Given the description of an element on the screen output the (x, y) to click on. 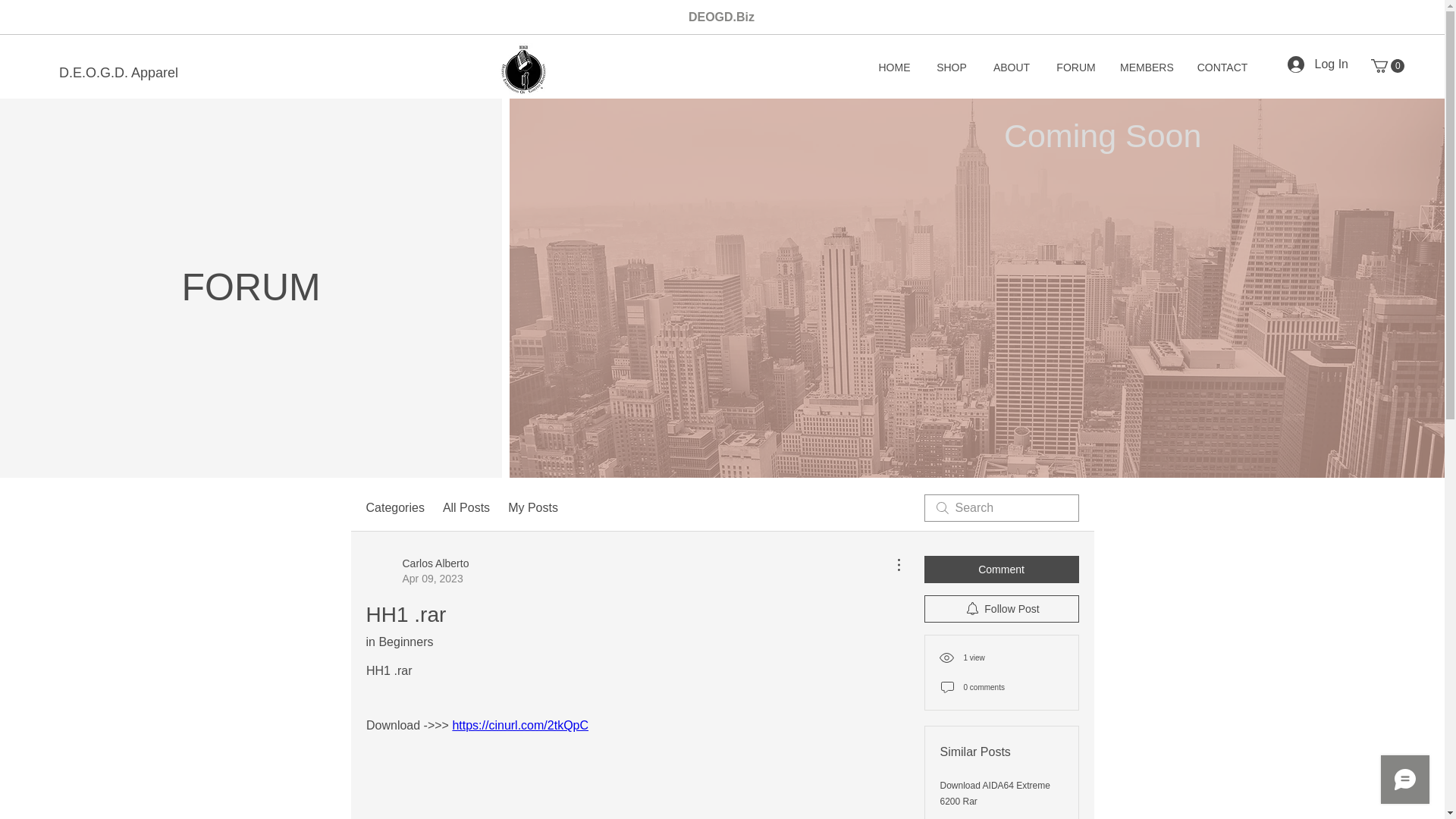
D.E.O.G.D. Apparel (118, 73)
Log In (1317, 63)
Categories (394, 507)
in Beginners (398, 641)
0 (1388, 65)
HOME (893, 67)
LOGO DEOGD.jpg (416, 571)
All Posts (522, 69)
Comment (465, 507)
0 (1000, 569)
CONTACT (1388, 65)
My Posts (1222, 67)
ABOUT (532, 507)
Follow Post (1011, 67)
